Given the description of an element on the screen output the (x, y) to click on. 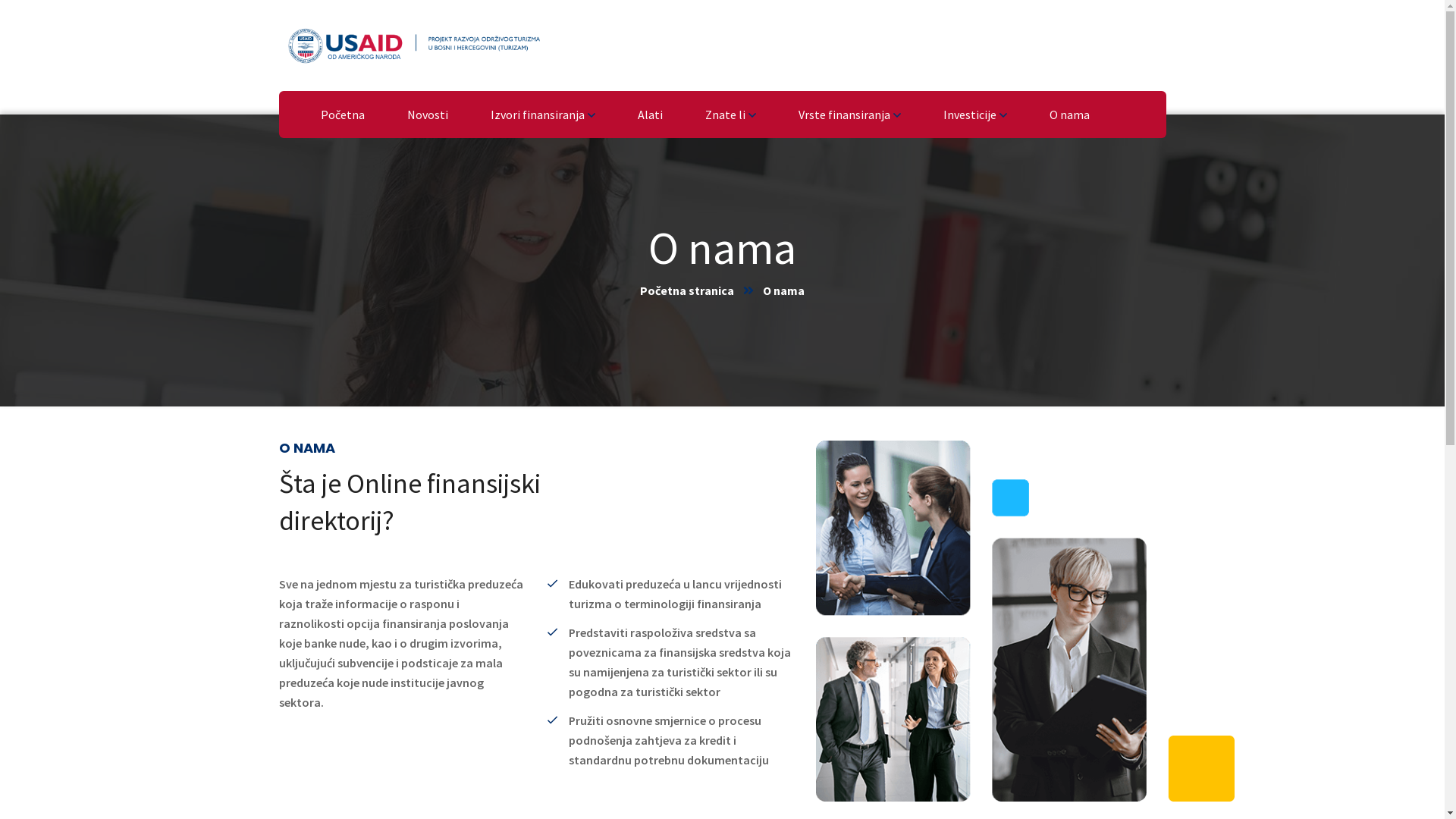
Alati Element type: text (649, 114)
Vrste finansiranja Element type: text (848, 114)
Novosti Element type: text (426, 114)
ONLINE FINANSIJSKI DIREKTORIJ Element type: hover (413, 43)
Izvori finansiranja Element type: text (541, 114)
Investicije Element type: text (975, 114)
Znate li Element type: text (730, 114)
O nama Element type: text (1069, 114)
